Given the description of an element on the screen output the (x, y) to click on. 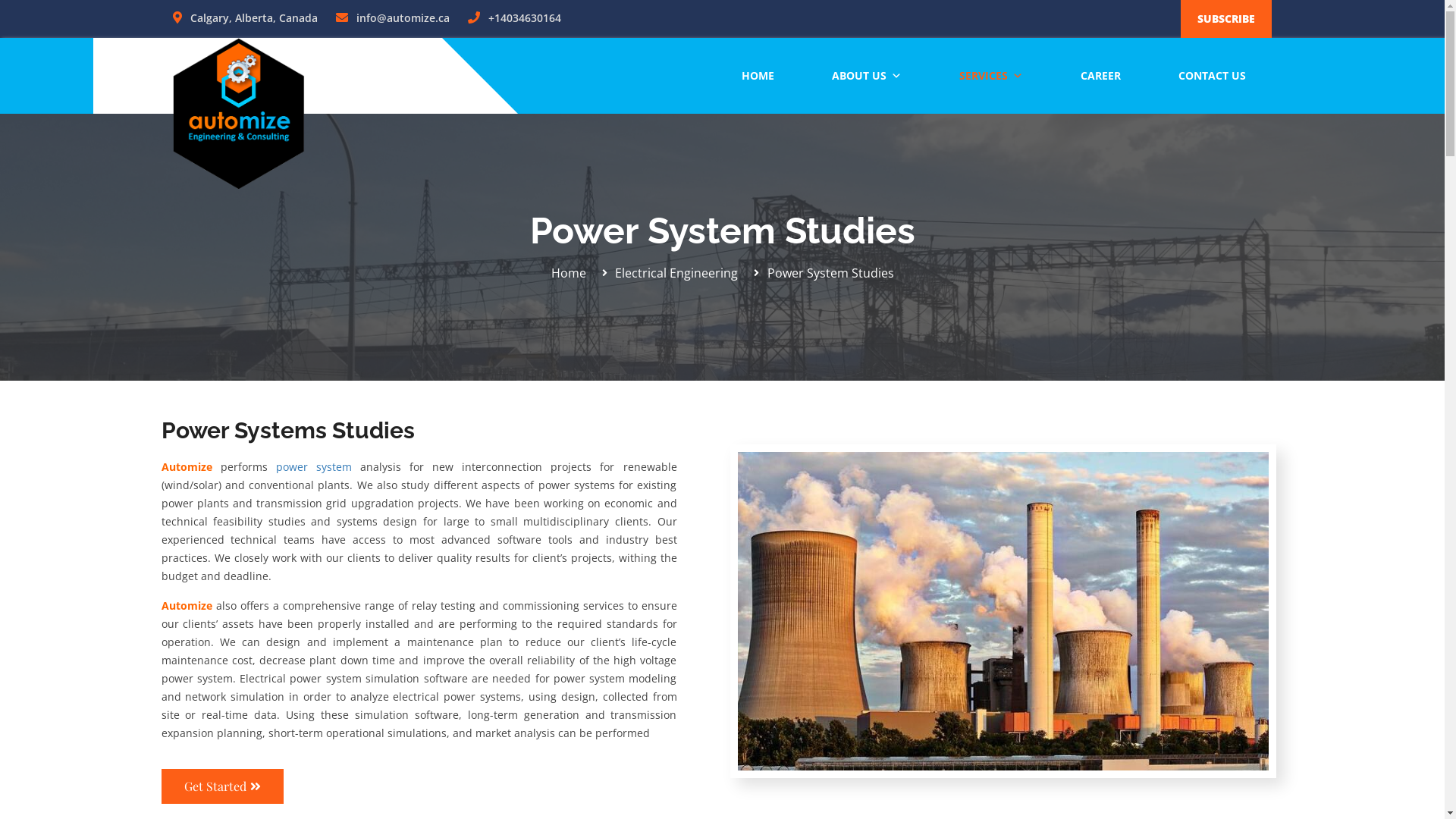
Get Started Element type: text (221, 785)
SUBSCRIBE Element type: text (1225, 18)
power system Element type: text (313, 466)
CAREER Element type: text (1098, 75)
HOME Element type: text (754, 75)
Automize Element type: text (189, 466)
info@automize.ca Element type: text (391, 18)
Calgary, Alberta, Canada Element type: text (244, 18)
Electrical Engineering Element type: text (667, 272)
Home Element type: text (567, 272)
SERVICES Element type: text (988, 75)
CONTACT US Element type: text (1208, 75)
ABOUT US Element type: text (864, 75)
+14034630164 Element type: text (513, 18)
